Given the description of an element on the screen output the (x, y) to click on. 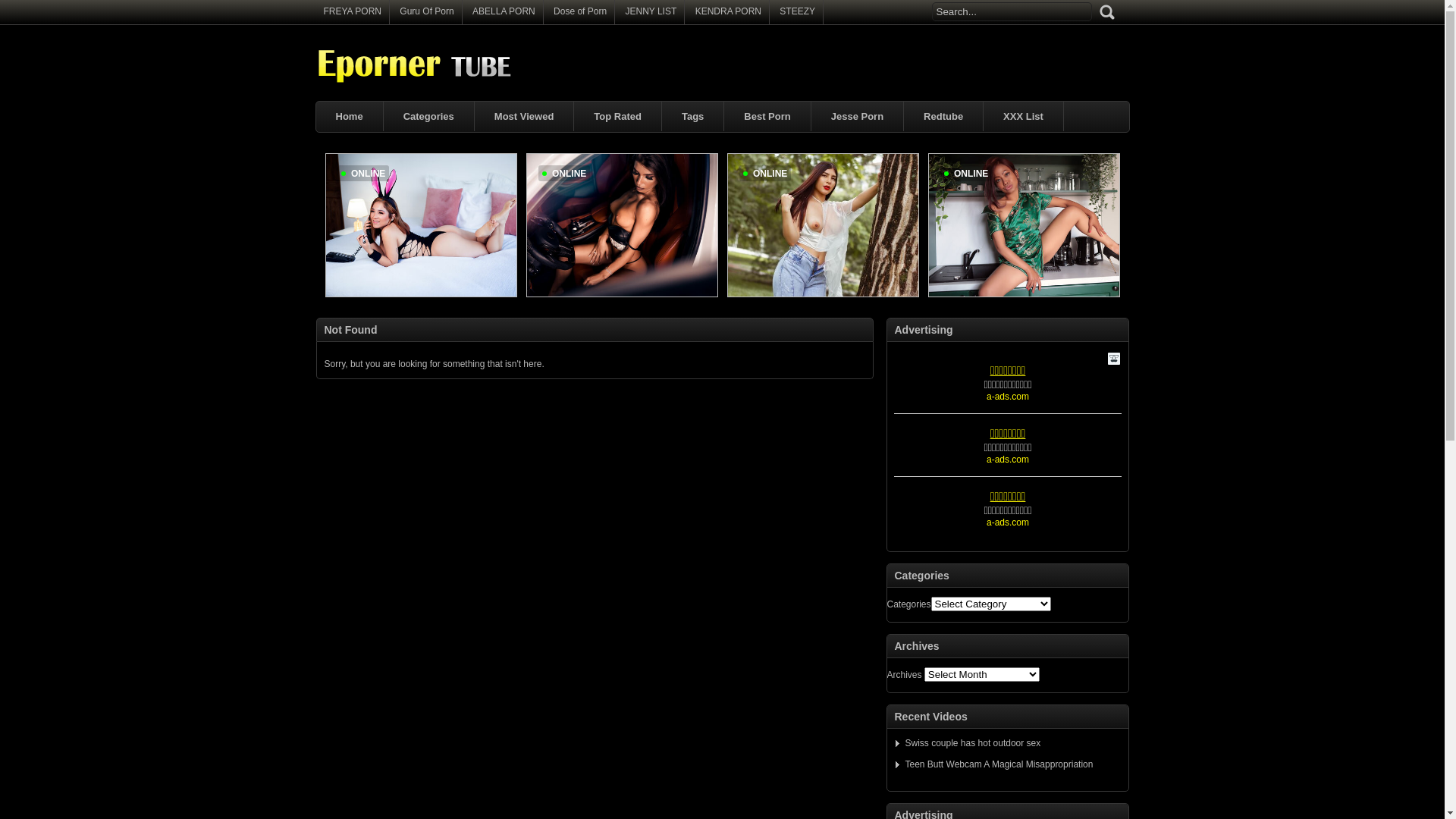
Categories Element type: text (428, 116)
Swiss couple has hot outdoor sex Element type: text (967, 742)
KENDRA PORN Element type: text (728, 11)
JENNY LIST Element type: text (650, 11)
Home Element type: text (348, 116)
Tags Element type: text (692, 116)
Redtube Element type: text (942, 116)
Guru Of Porn Element type: text (426, 11)
Dose of Porn Element type: text (579, 11)
Most Viewed Element type: text (524, 116)
Top Rated Element type: text (617, 116)
Best Porn Element type: text (766, 116)
Jesse Porn Element type: text (857, 116)
ABELLA PORN Element type: text (503, 11)
Teen Butt Webcam A Magical Misappropriation Element type: text (993, 764)
XXX List Element type: text (1023, 116)
FREYA PORN Element type: text (351, 11)
STEEZY Element type: text (797, 11)
